Given the description of an element on the screen output the (x, y) to click on. 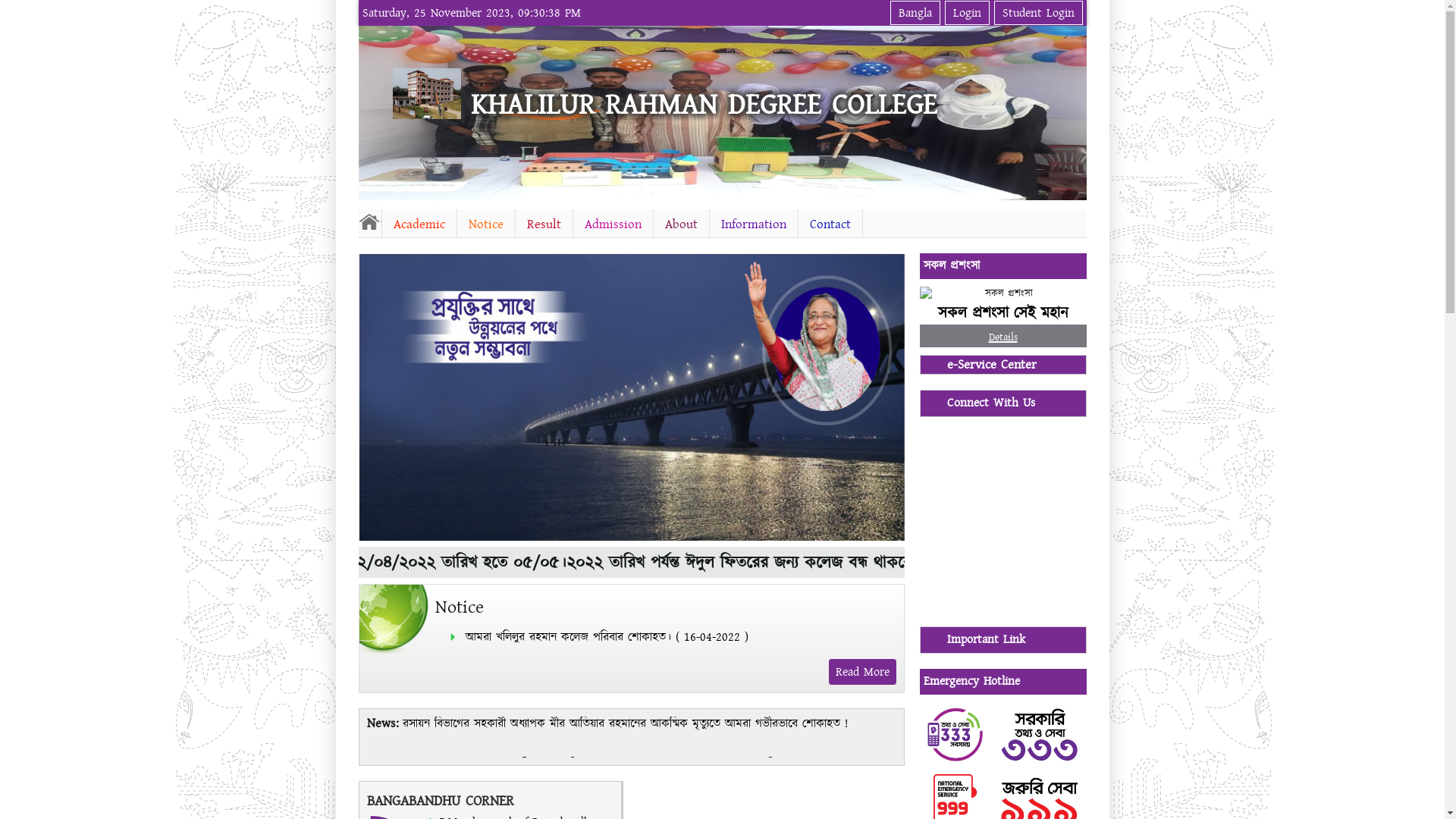
Next Element type: text (1071, 110)
Student Login Element type: text (1037, 12)
e-Service Center Element type: text (1002, 364)

                            
                         Element type: hover (431, 93)
Previous Element type: text (371, 110)

                
             Element type: hover (630, 537)
Read More Element type: text (861, 671)
About Element type: text (681, 224)
Notice Element type: text (485, 224)
Saturday, 25 November 2023, 09:30:38 PM Element type: text (470, 12)
Contact Element type: text (829, 224)
Academic Element type: text (419, 224)
Result Element type: text (543, 224)
Login Element type: text (966, 12)
KHALILUR RAHMAN DEGREE COLLEGE Element type: text (703, 104)
Bangla Element type: text (915, 12)
Information Element type: text (753, 224)
Details Element type: text (1002, 335)

                     Element type: hover (368, 221)
Admission Element type: text (612, 224)
